Given the description of an element on the screen output the (x, y) to click on. 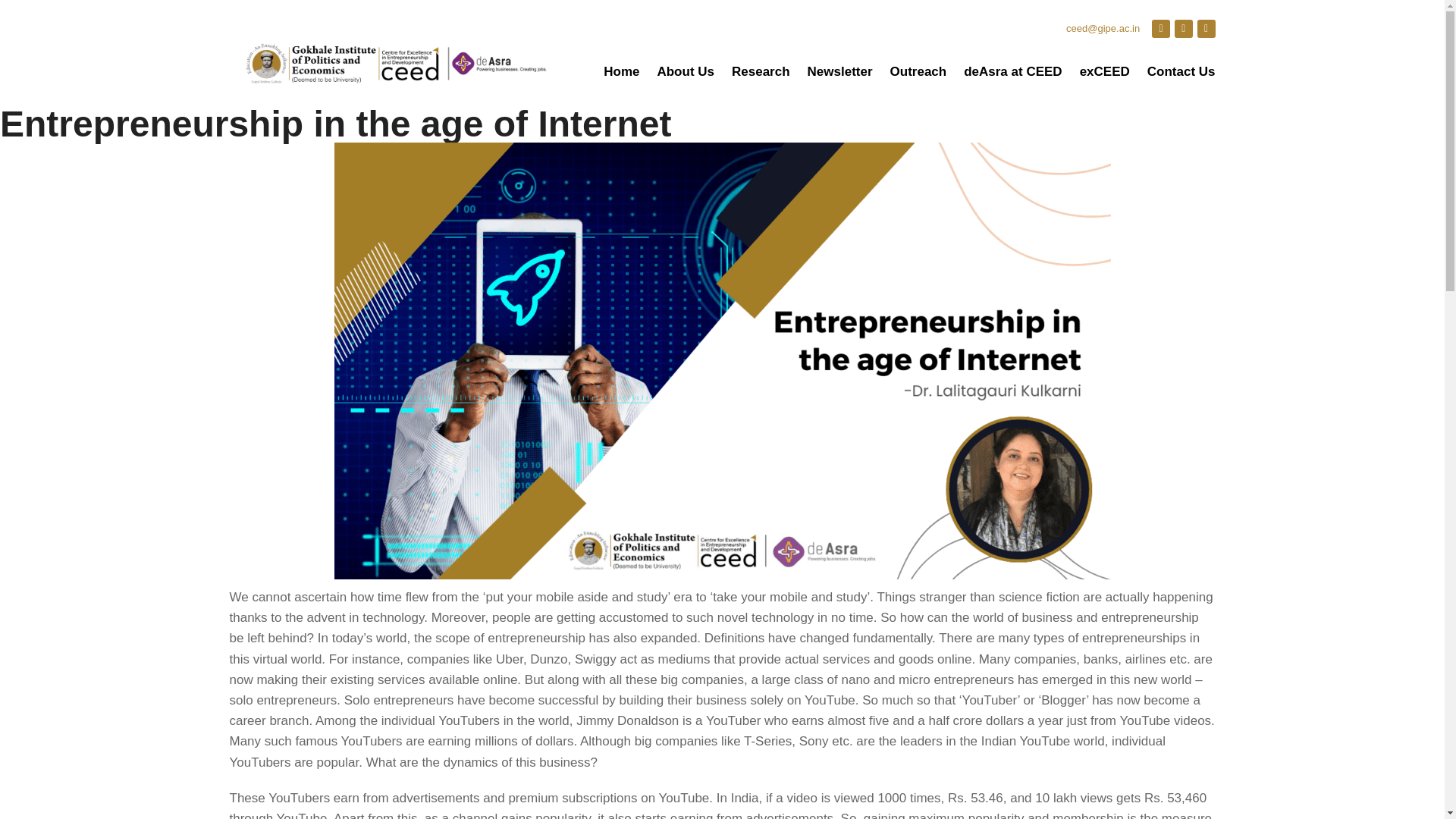
Contact Us (1181, 71)
Newsletter (840, 71)
deAsra at CEED (1012, 71)
About Us (685, 71)
Research (761, 71)
exCEED (1104, 71)
Outreach (918, 71)
Home (621, 71)
